Given the description of an element on the screen output the (x, y) to click on. 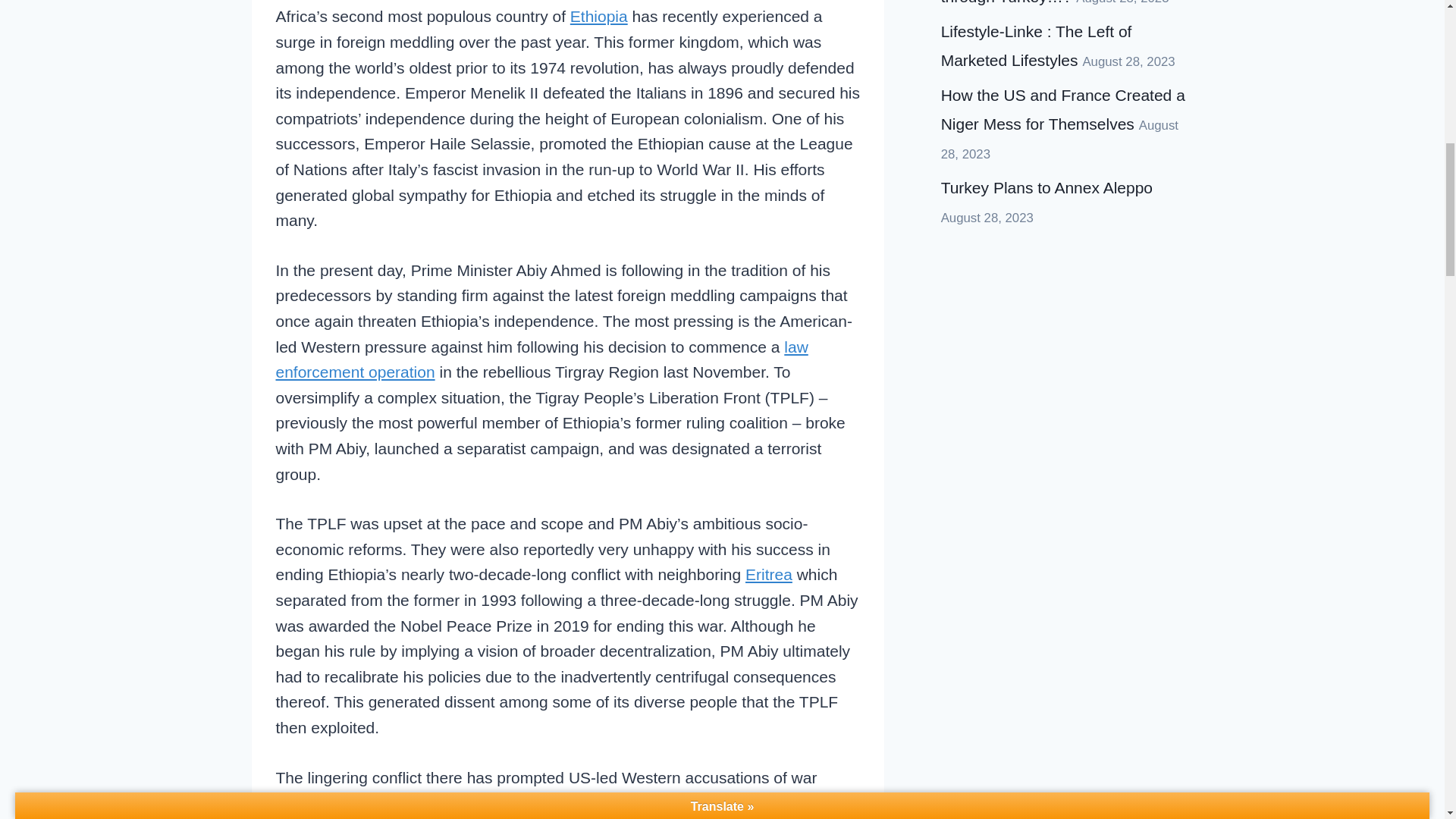
Ethiopia (598, 16)
Eritrea (768, 574)
law enforcement operation (542, 359)
